Given the description of an element on the screen output the (x, y) to click on. 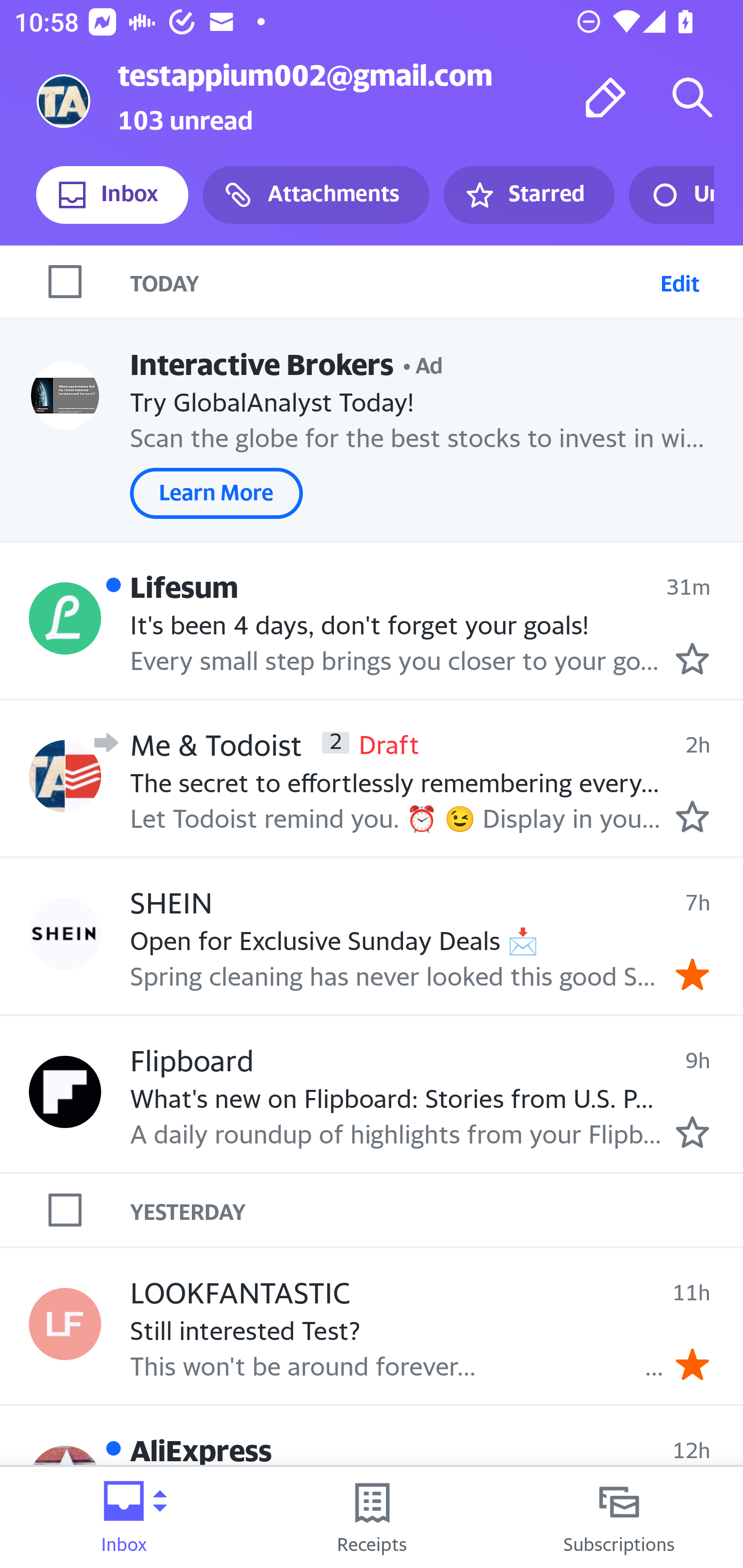
Compose (605, 97)
Search mail (692, 97)
Attachments (315, 195)
Starred (528, 195)
TODAY (391, 281)
Edit Select emails (679, 281)
Profile
Lifesum (64, 617)
Mark as starred. (692, 659)
Profile
Me & Todoist (64, 776)
Mark as starred. (692, 816)
Profile
SHEIN (64, 934)
Remove star. (692, 974)
Profile
Flipboard (64, 1091)
Mark as starred. (692, 1132)
YESTERDAY (436, 1209)
Profile
LOOKFANTASTIC (64, 1323)
Remove star. (692, 1364)
Inbox Folder picker (123, 1517)
Receipts (371, 1517)
Subscriptions (619, 1517)
